Given the description of an element on the screen output the (x, y) to click on. 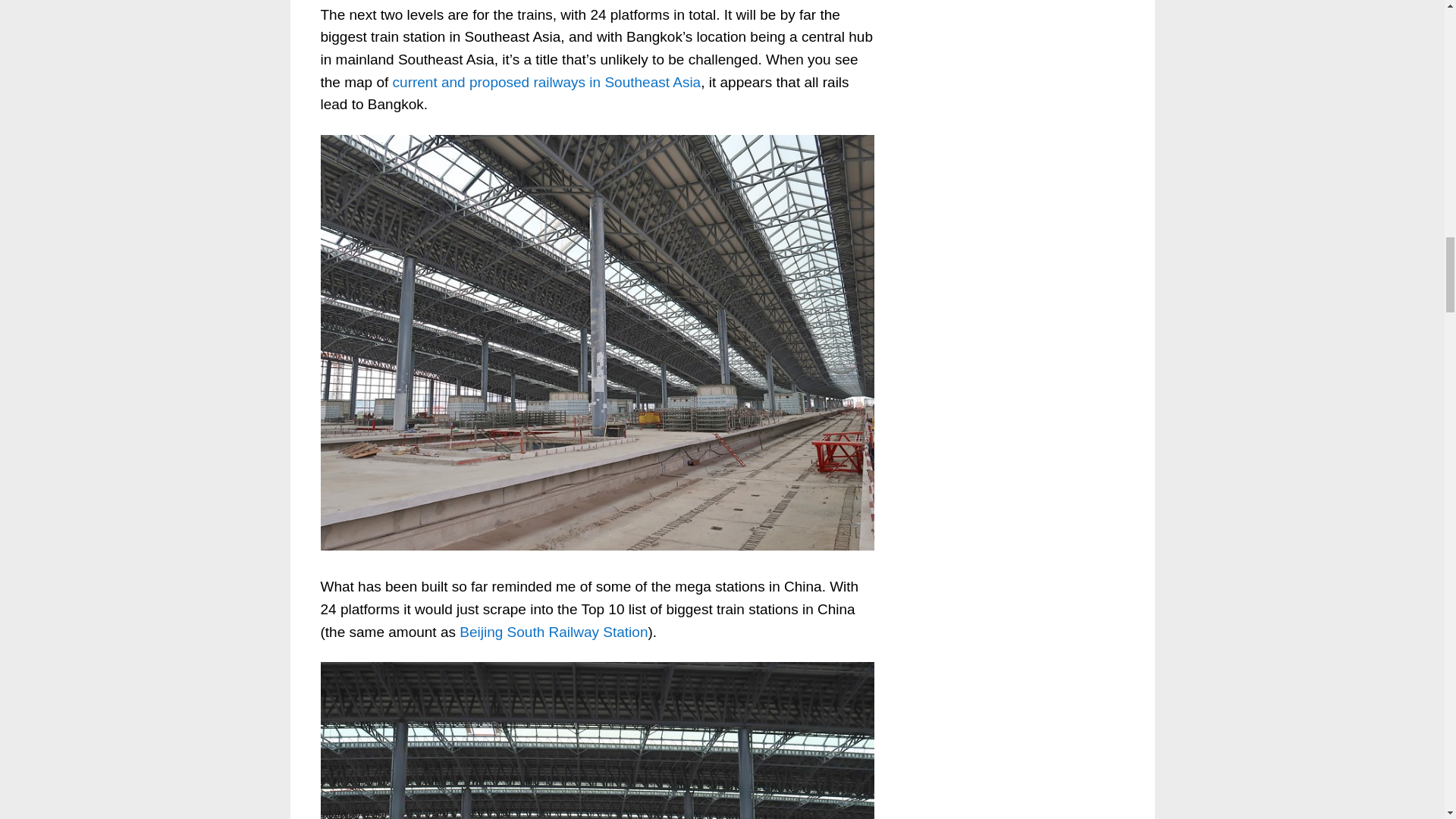
current and proposed railways in Southeast Asia (547, 82)
Beijing South Railway Station (553, 631)
